Given the description of an element on the screen output the (x, y) to click on. 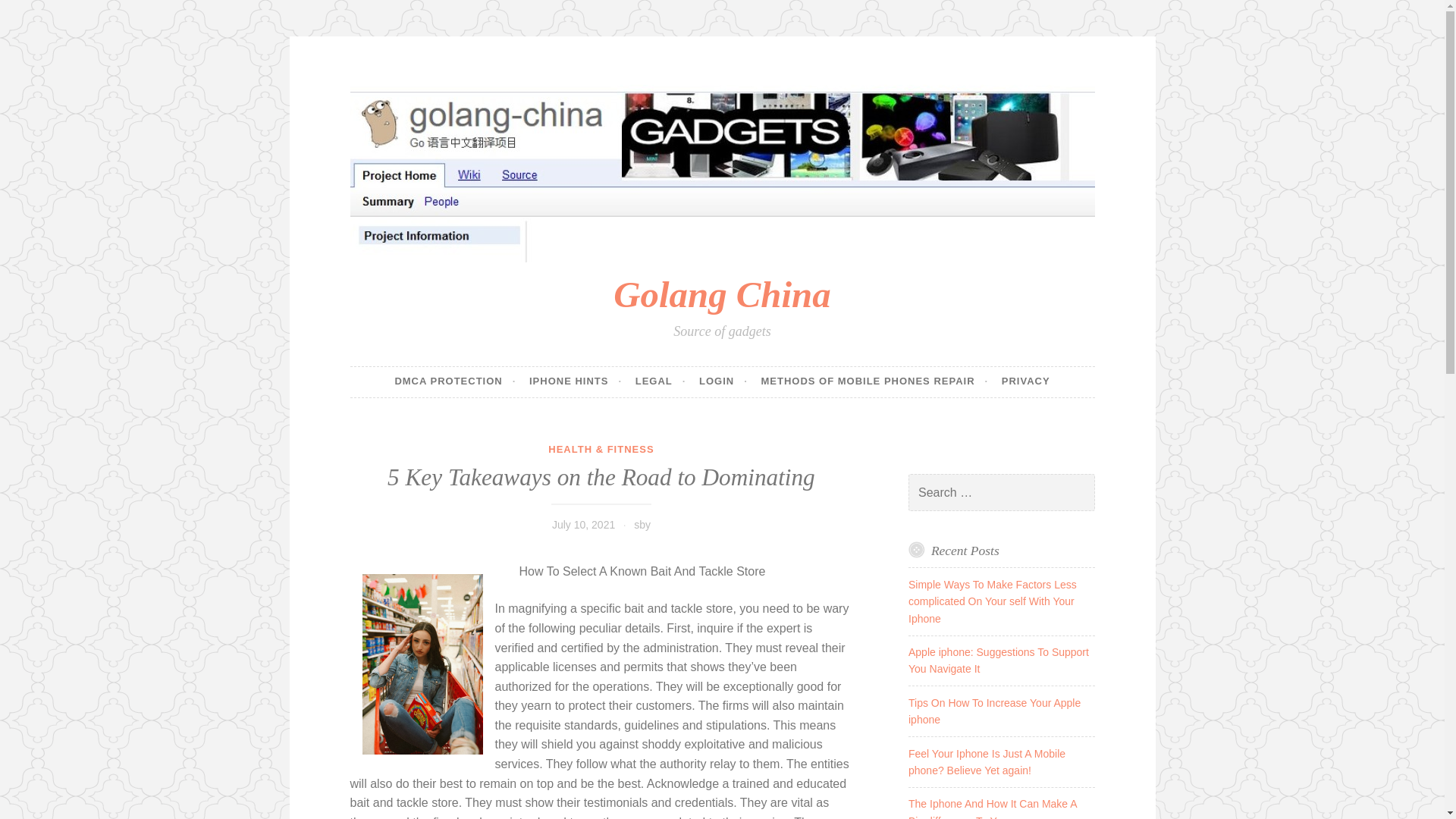
PRIVACY (1025, 381)
Golang China (720, 294)
The Iphone And How It Can Make A Big difference To You (992, 808)
Apple iphone: Suggestions To Support You Navigate It (998, 660)
IPHONE HINTS (575, 381)
Tips On How To Increase Your Apple iphone (994, 710)
LOGIN (723, 381)
sby (641, 524)
DMCA PROTECTION (454, 381)
METHODS OF MOBILE PHONES REPAIR (874, 381)
LEGAL (659, 381)
Search (33, 13)
Feel Your Iphone Is Just A Mobile phone? Believe Yet again! (986, 761)
